Given the description of an element on the screen output the (x, y) to click on. 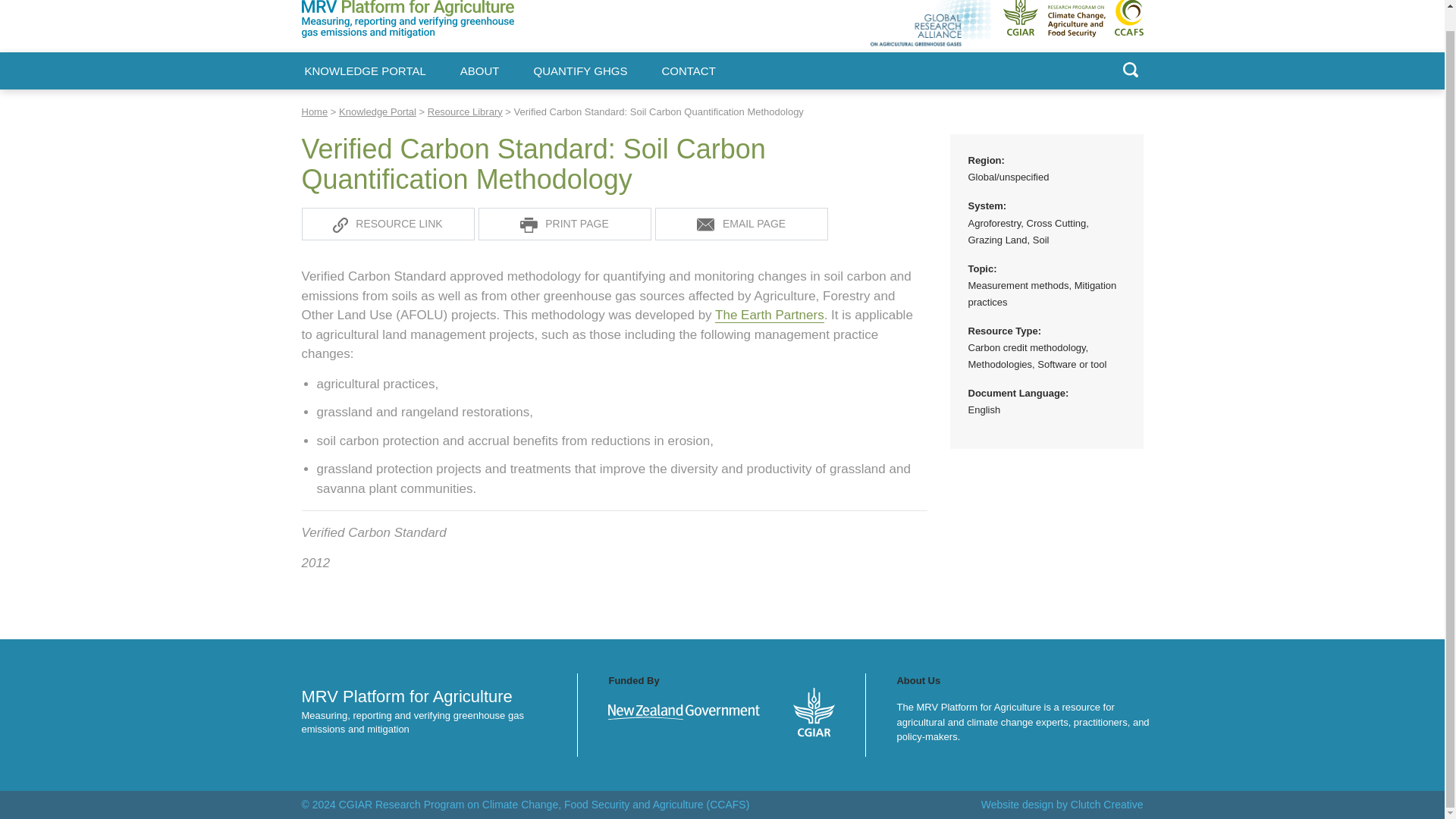
CONTACT (687, 71)
Resource Library (465, 111)
Website design by Clutch Creative (1061, 804)
KNOWLEDGE PORTAL (365, 71)
RESOURCE LINK (387, 223)
ABOUT (479, 71)
MRV Platform for Agriculture (382, 47)
QUANTIFY GHGS (580, 71)
PRINT PAGE (563, 223)
agMRV Resource (741, 223)
EMAIL PAGE (741, 223)
Knowledge Portal (377, 111)
Go to Home. (315, 111)
Home (315, 111)
The Earth Partners (769, 314)
